Given the description of an element on the screen output the (x, y) to click on. 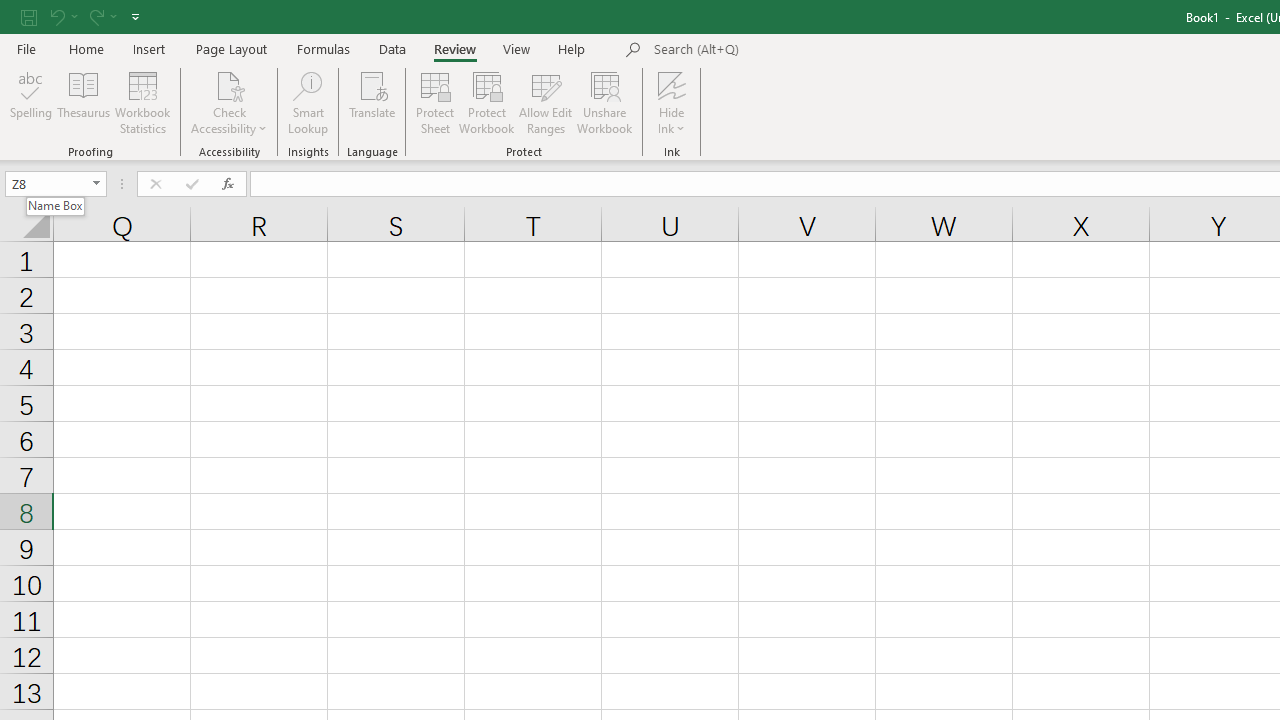
Thesaurus... (83, 102)
Protect Sheet... (434, 102)
Check Accessibility (229, 84)
Workbook Statistics (142, 102)
